Given the description of an element on the screen output the (x, y) to click on. 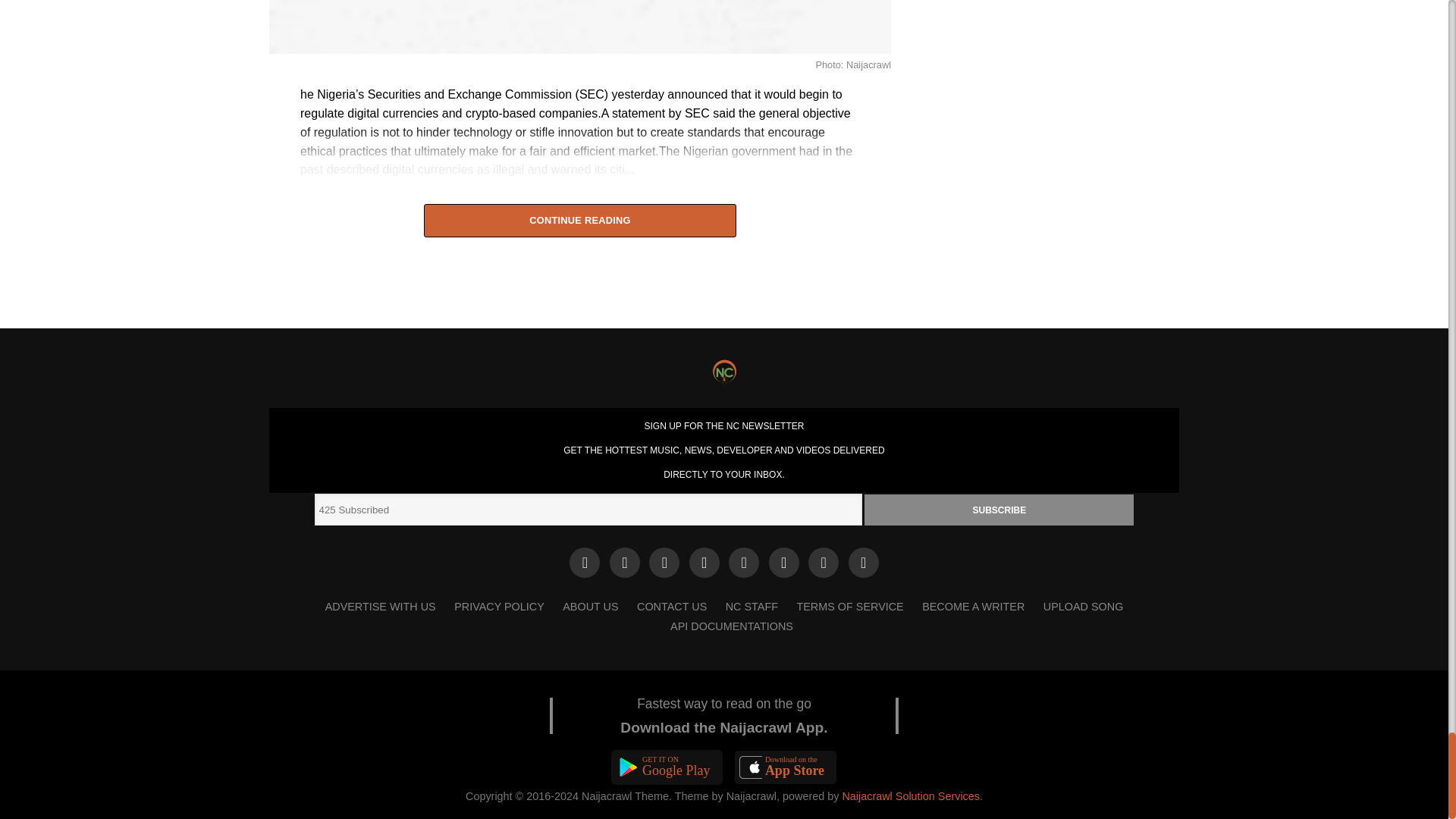
App Store (785, 767)
Subscribe (999, 509)
Google Play (667, 767)
